Given the description of an element on the screen output the (x, y) to click on. 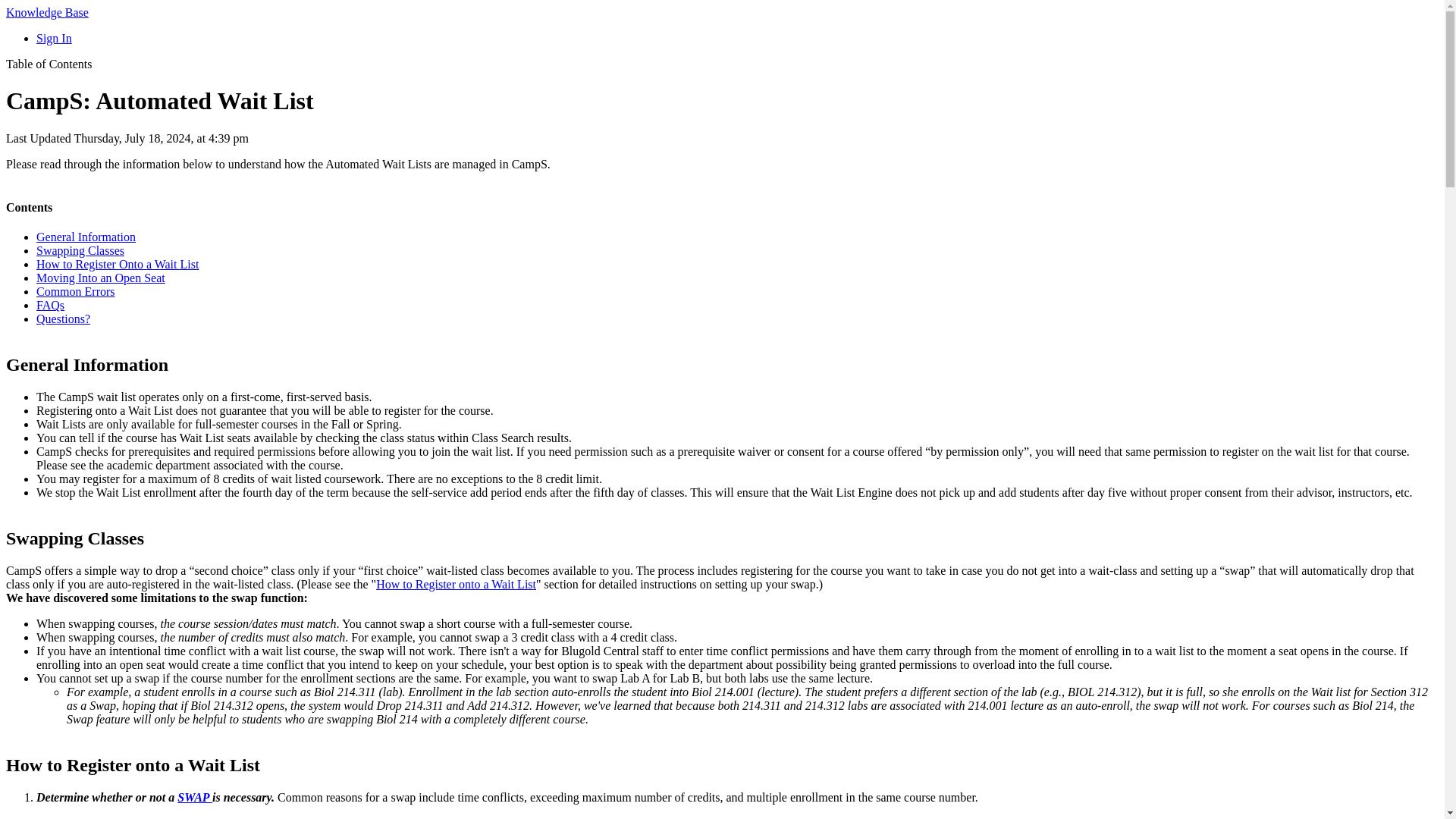
FAQs (50, 305)
Knowledge Base (46, 11)
Moving Into an Open Seat (100, 277)
SWAP (194, 797)
Questions? (63, 318)
Sign In (53, 38)
General Information (85, 236)
Common Errors (75, 291)
How to Register onto a Wait List (455, 584)
How to Register Onto a Wait List (117, 264)
Swapping Classes (79, 250)
